Given the description of an element on the screen output the (x, y) to click on. 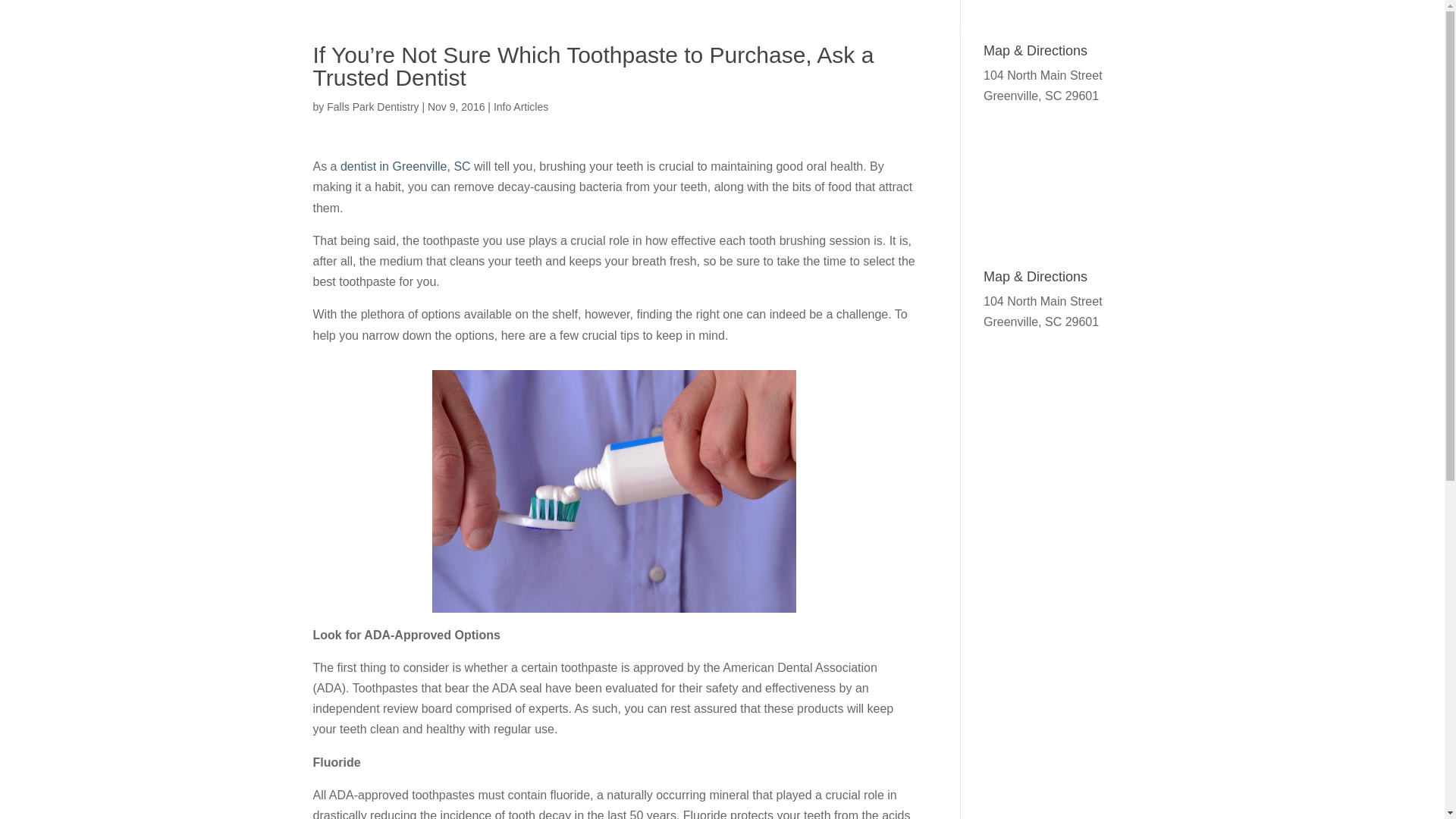
Financial (1170, 44)
Services (1017, 44)
Reviews (1097, 44)
Home (855, 44)
Pay Online (1339, 44)
Contact Us (1251, 44)
About Us (928, 44)
Posts by Falls Park Dentistry (372, 106)
